Given the description of an element on the screen output the (x, y) to click on. 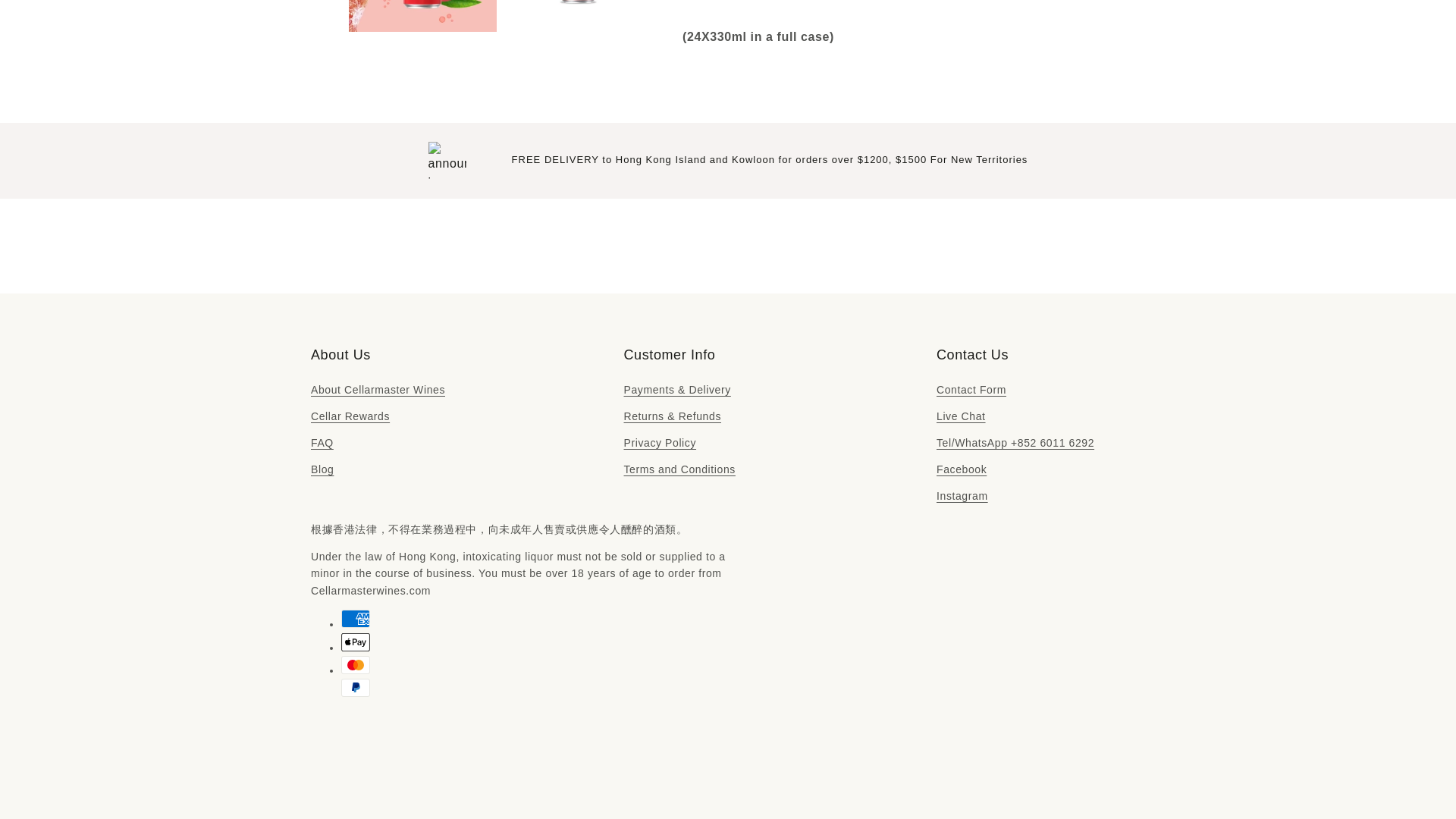
Mastercard (354, 665)
PayPal (354, 687)
Apple Pay (354, 642)
Union Pay (354, 710)
American Express (354, 618)
Visa (354, 733)
